Given the description of an element on the screen output the (x, y) to click on. 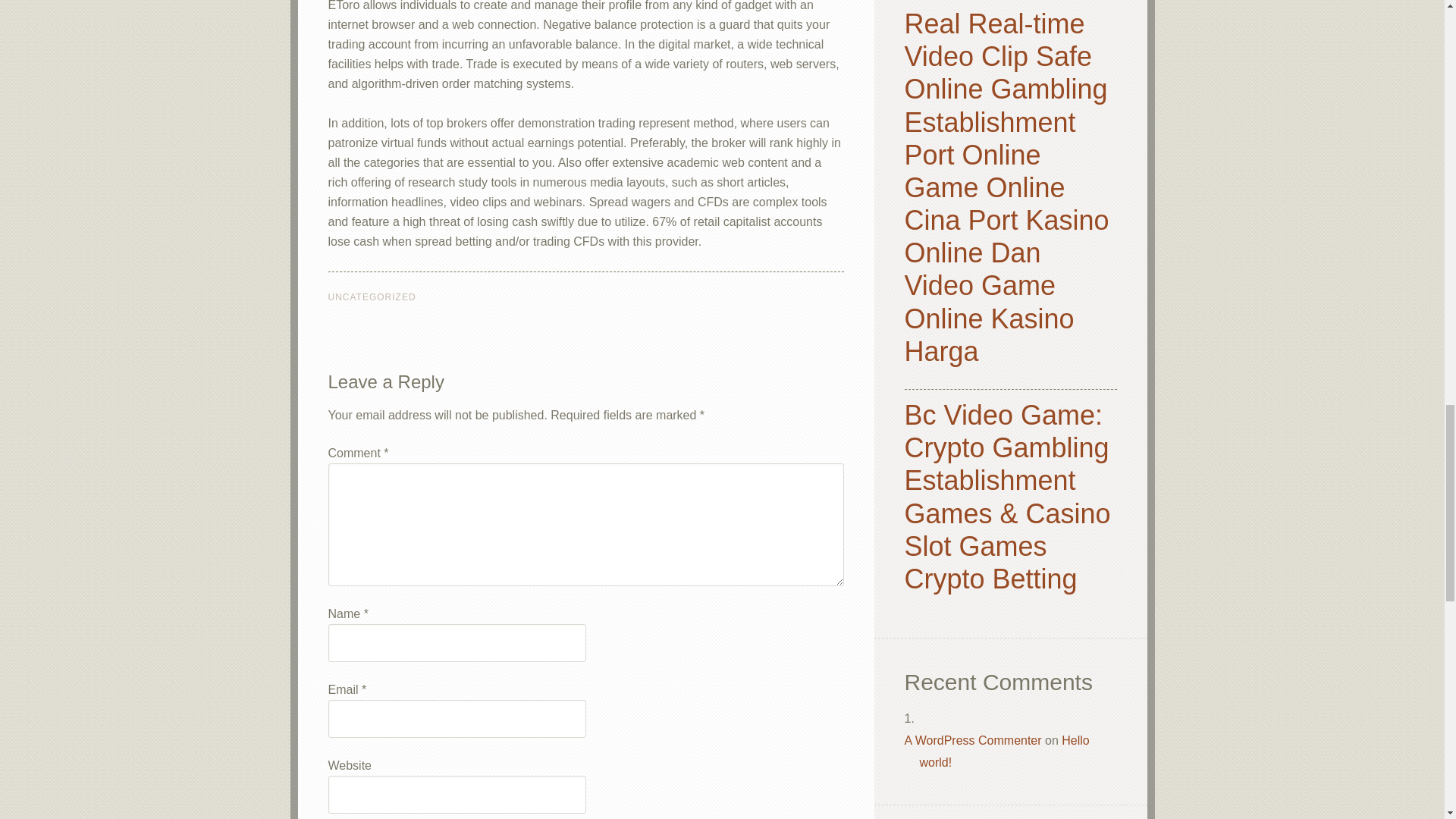
A WordPress Commenter (972, 739)
Hello world! (1003, 751)
UNCATEGORIZED (370, 296)
